Given the description of an element on the screen output the (x, y) to click on. 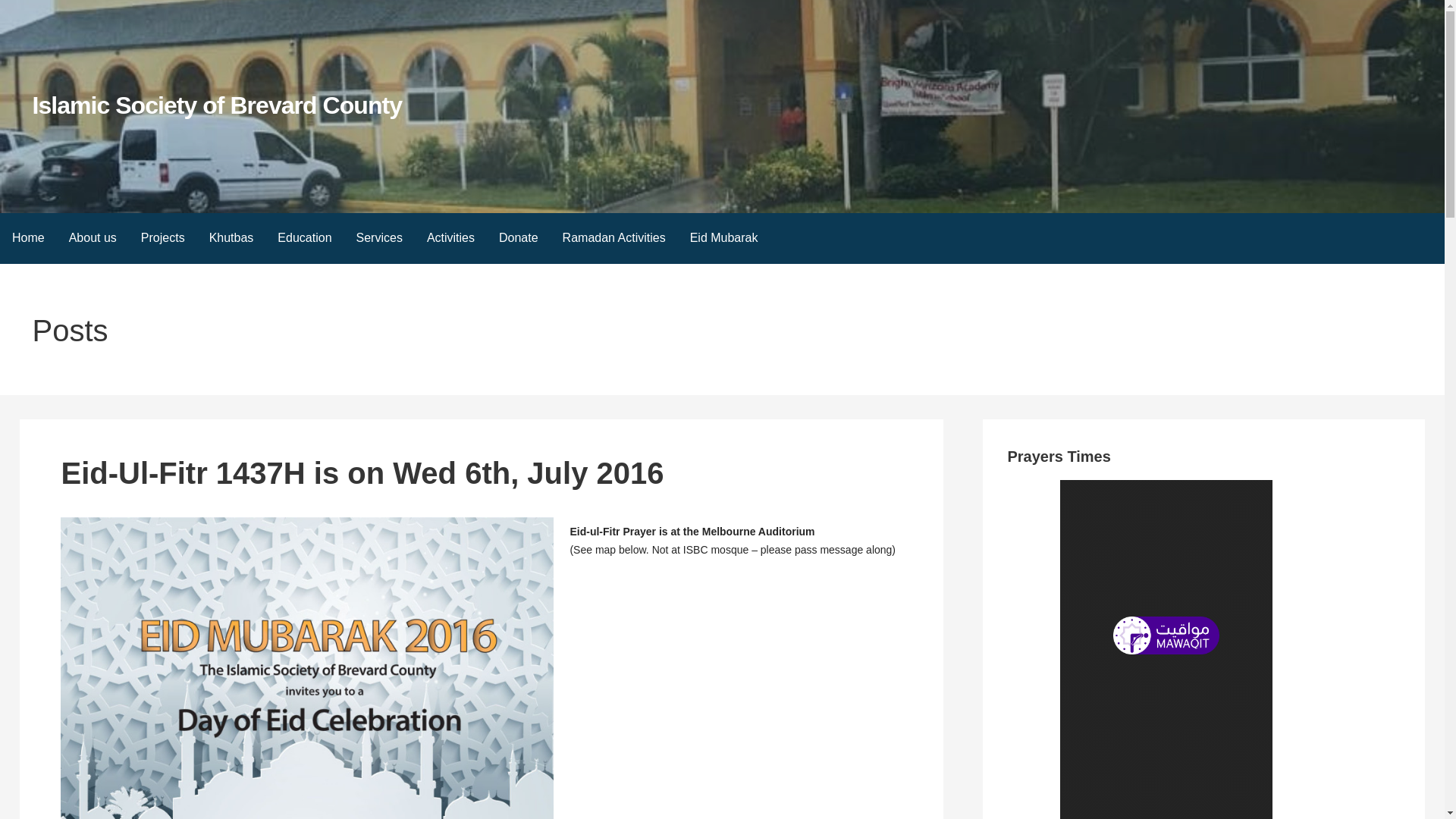
Ramadan Activities (614, 237)
Activities (450, 237)
Donate (518, 237)
Islamic Society of Brevard County (216, 104)
Home (28, 237)
Services (378, 237)
Education (303, 237)
Projects (162, 237)
About us (92, 237)
Eid Mubarak (724, 237)
